Given the description of an element on the screen output the (x, y) to click on. 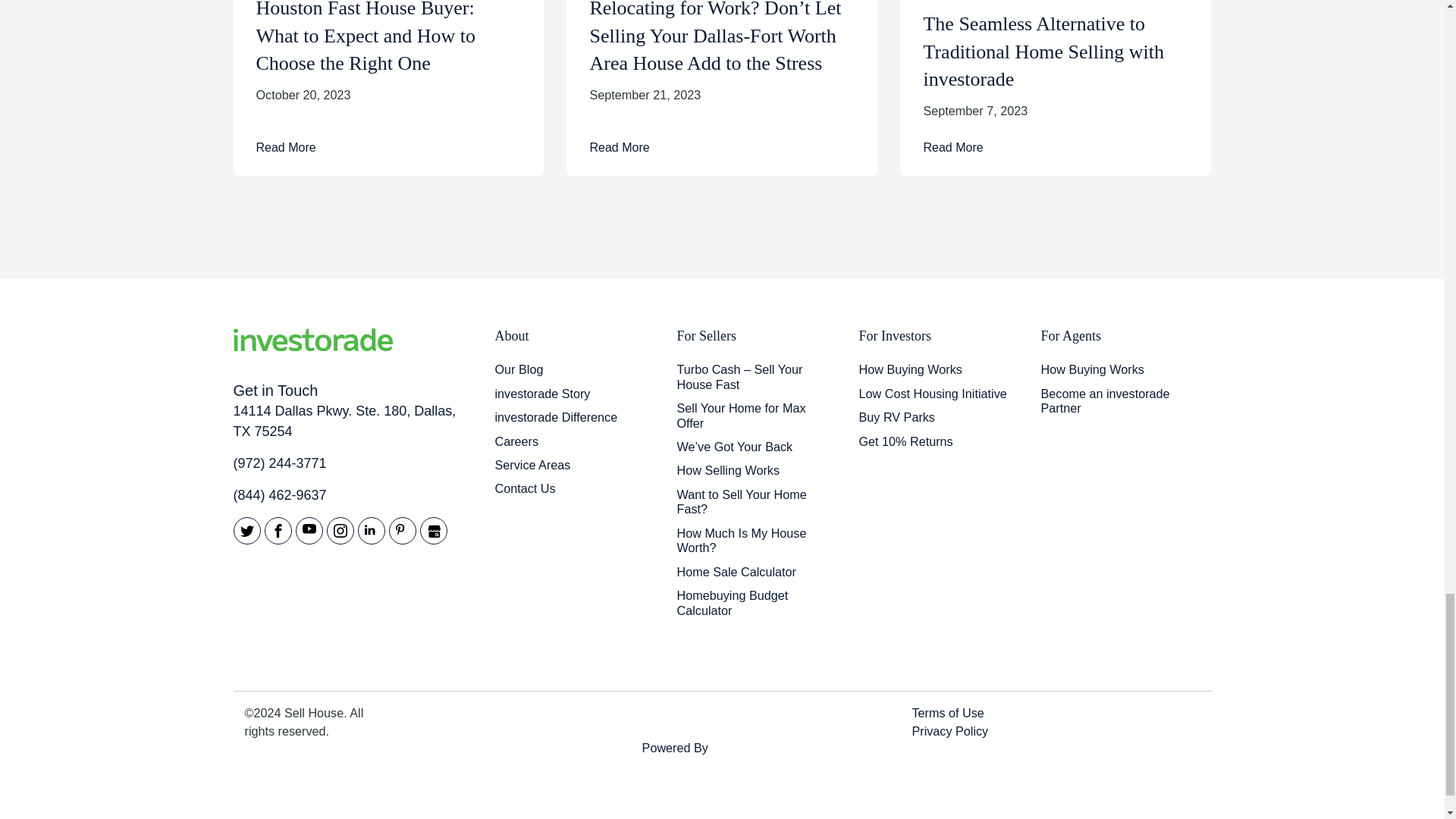
Read Article (1055, 147)
Read Article (388, 147)
Read Article (721, 147)
